Given the description of an element on the screen output the (x, y) to click on. 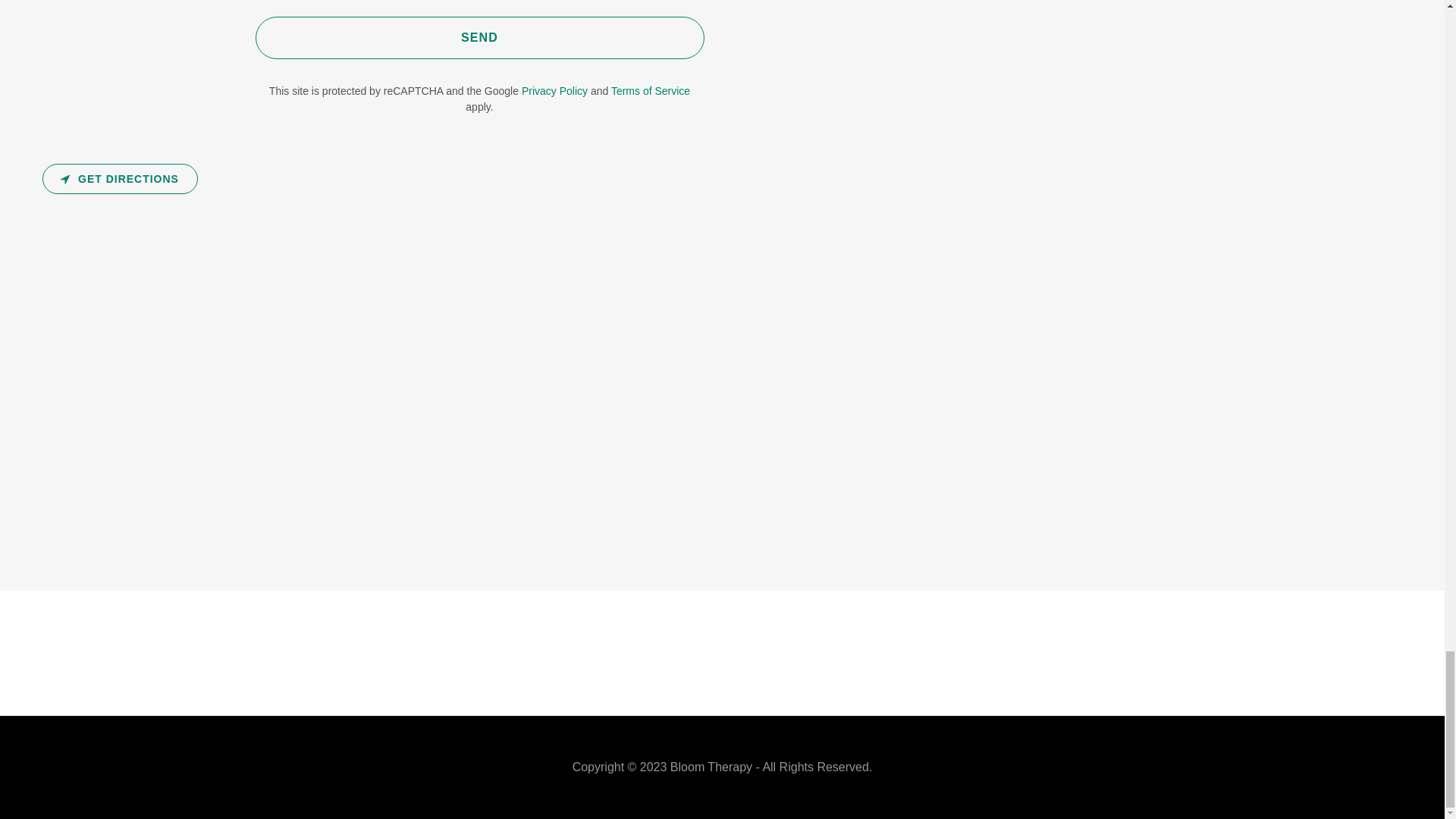
GET DIRECTIONS (120, 178)
SEND (478, 37)
Terms of Service (650, 91)
Privacy Policy (554, 91)
